Given the description of an element on the screen output the (x, y) to click on. 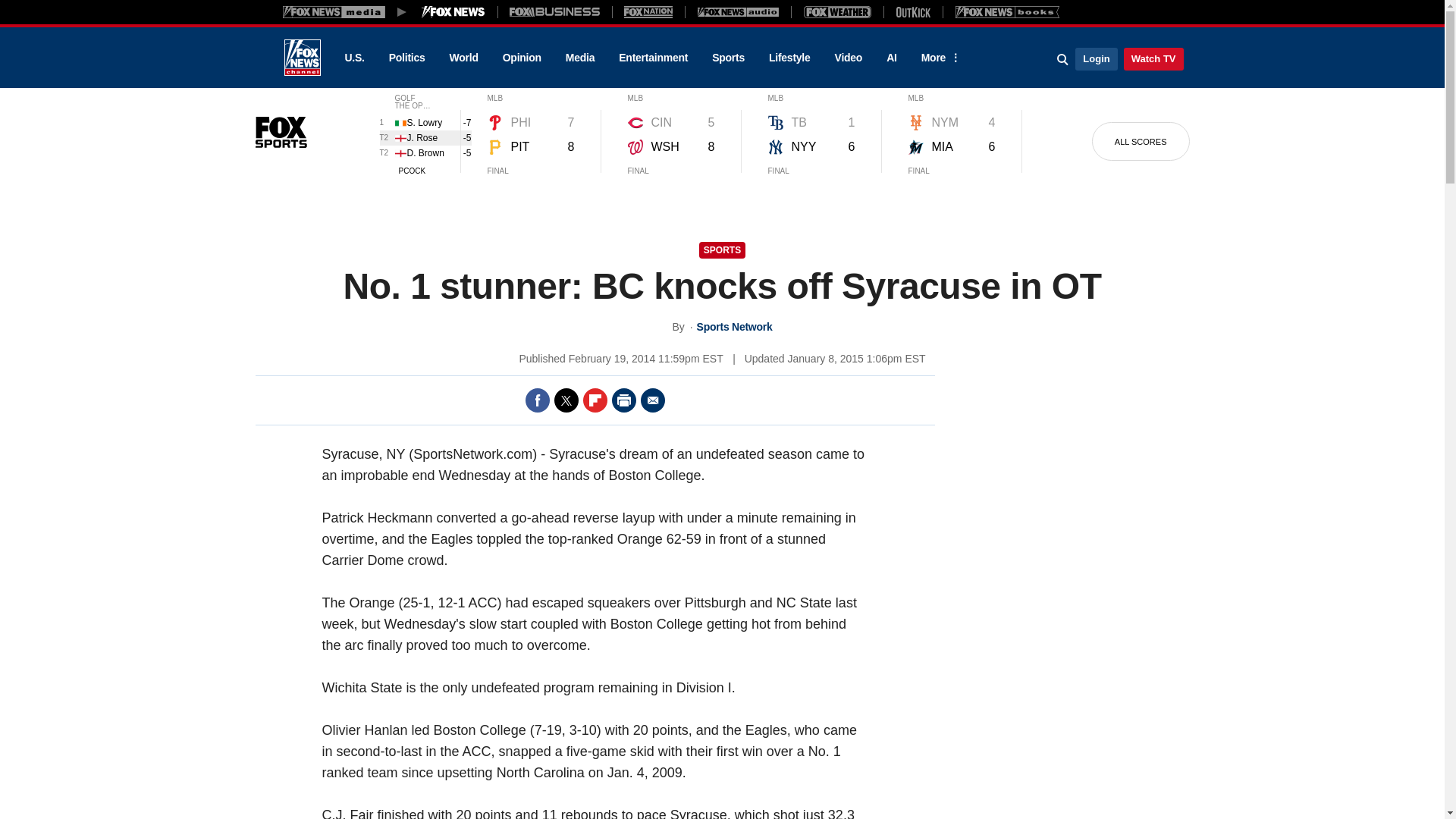
Watch TV (1153, 58)
Media (580, 57)
Fox Business (554, 11)
Politics (407, 57)
Video (848, 57)
Login (1095, 58)
Outkick (912, 11)
Entertainment (653, 57)
Fox Nation (648, 11)
World (464, 57)
U.S. (353, 57)
Fox Weather (836, 11)
Sports (728, 57)
Fox News (301, 57)
Opinion (521, 57)
